Given the description of an element on the screen output the (x, y) to click on. 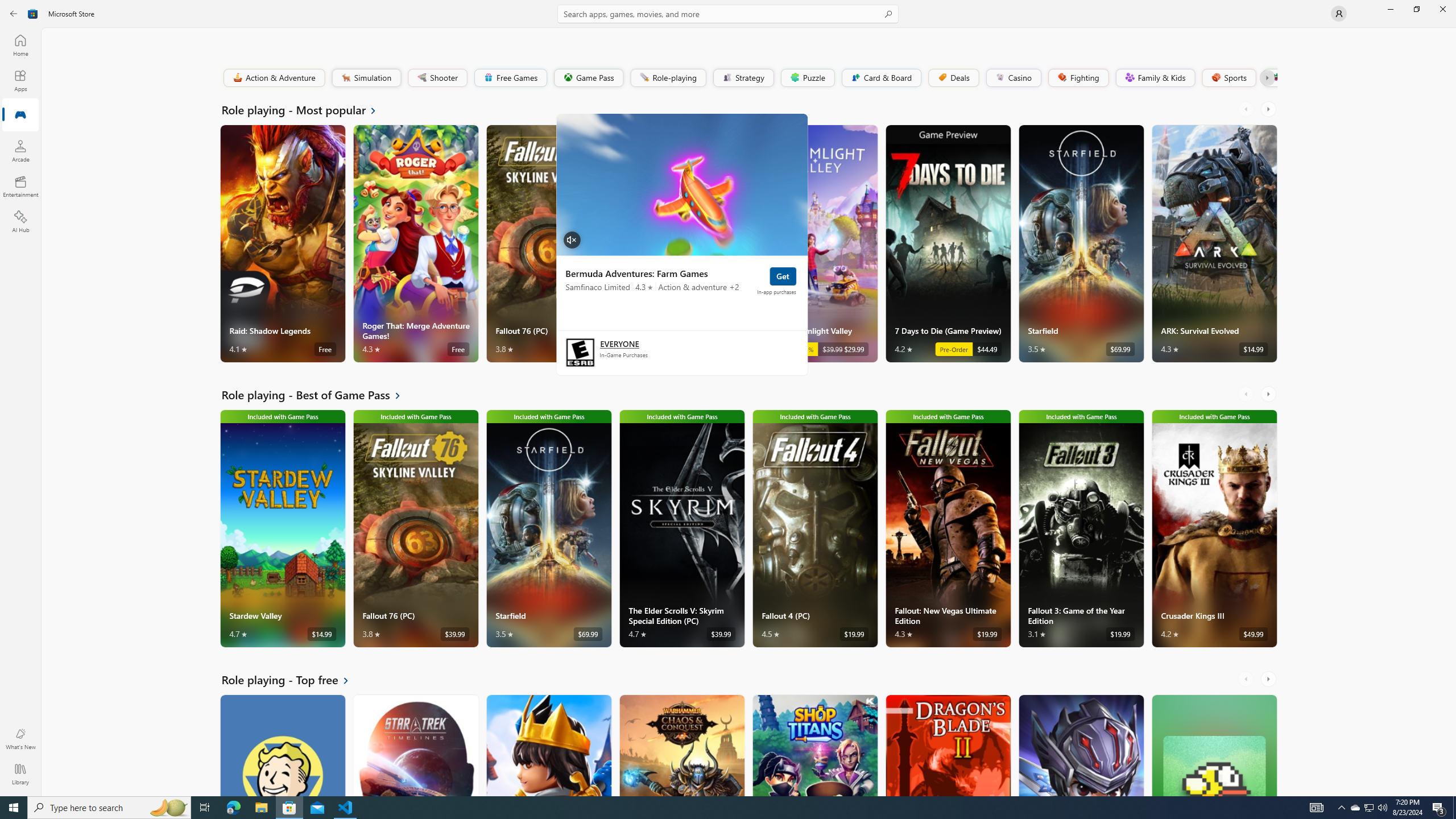
Restore Microsoft Store (1416, 9)
Role-playing (668, 77)
Class: Button (1266, 77)
Fighting (1078, 77)
Family & Kids (1154, 77)
User profile (1338, 13)
Free Games (509, 77)
Flappy Bird. Average rating of 3.3 out of five stars. Free   (1213, 745)
